Given the description of an element on the screen output the (x, y) to click on. 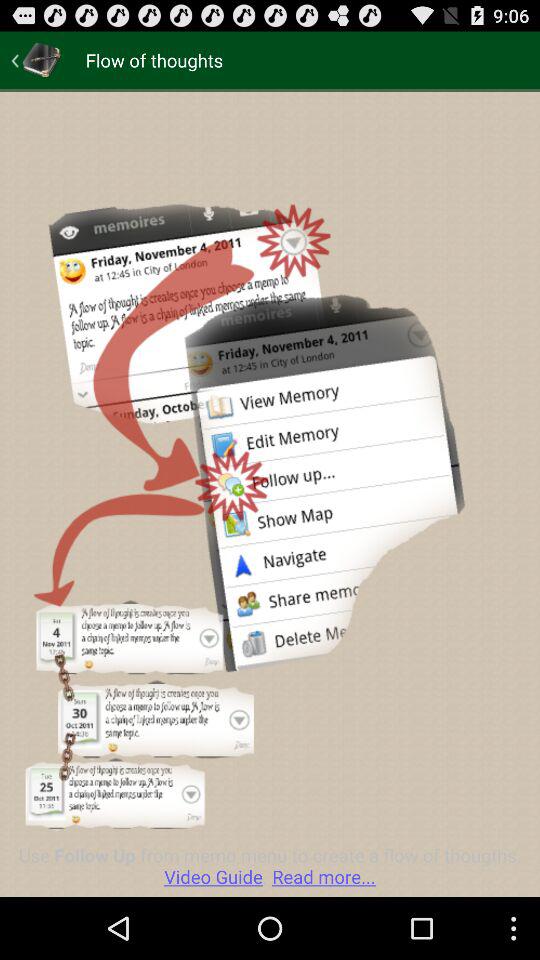
open item next to flow of thoughts app (36, 60)
